Given the description of an element on the screen output the (x, y) to click on. 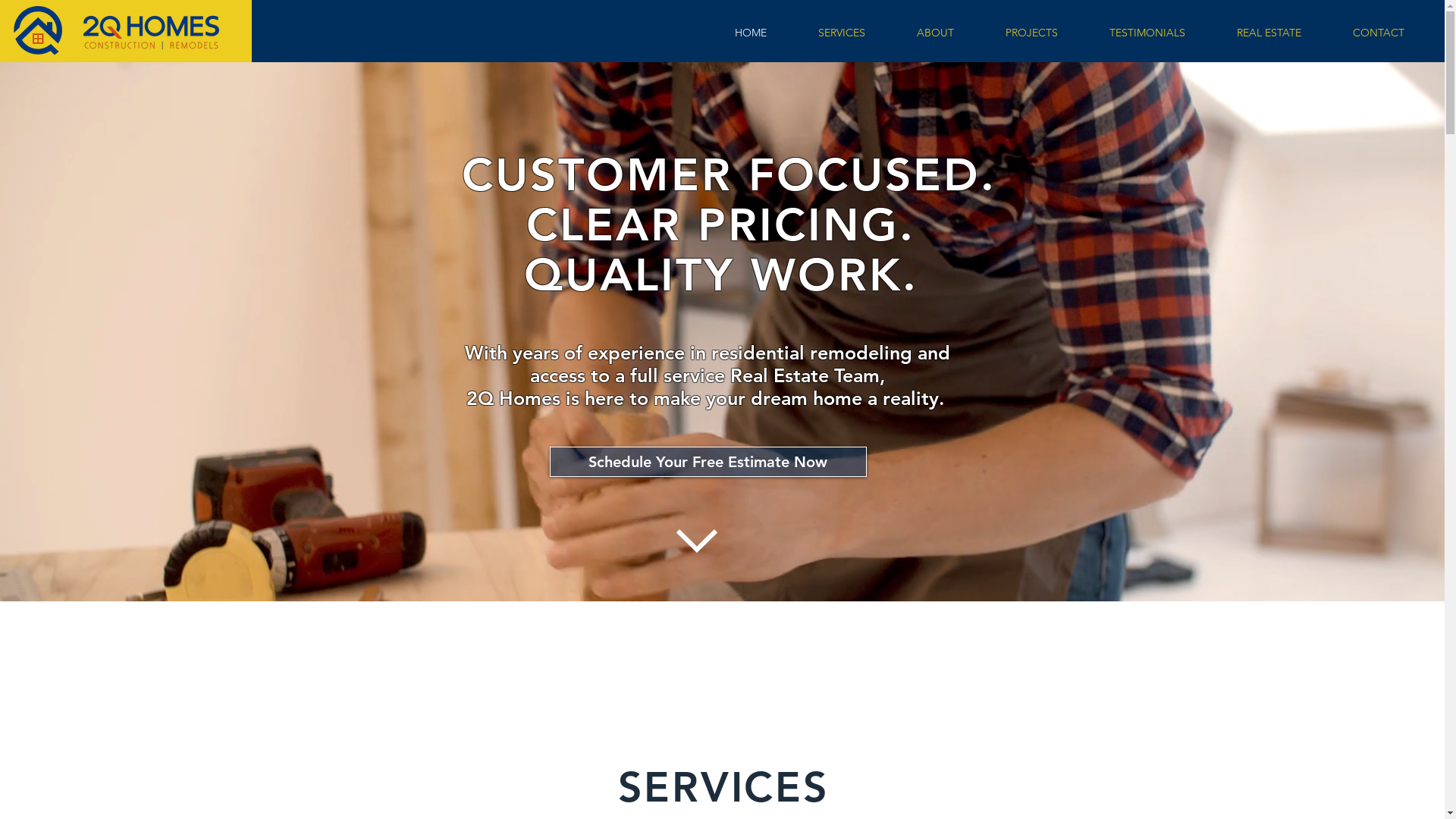
CONTACT Element type: text (1378, 32)
PROJECTS Element type: text (1031, 32)
ABOUT Element type: text (935, 32)
REAL ESTATE Element type: text (1269, 32)
Schedule Your Free Estimate Now Element type: text (707, 461)
SERVICES Element type: text (841, 32)
TESTIMONIALS Element type: text (1147, 32)
HOME Element type: text (750, 32)
